Given the description of an element on the screen output the (x, y) to click on. 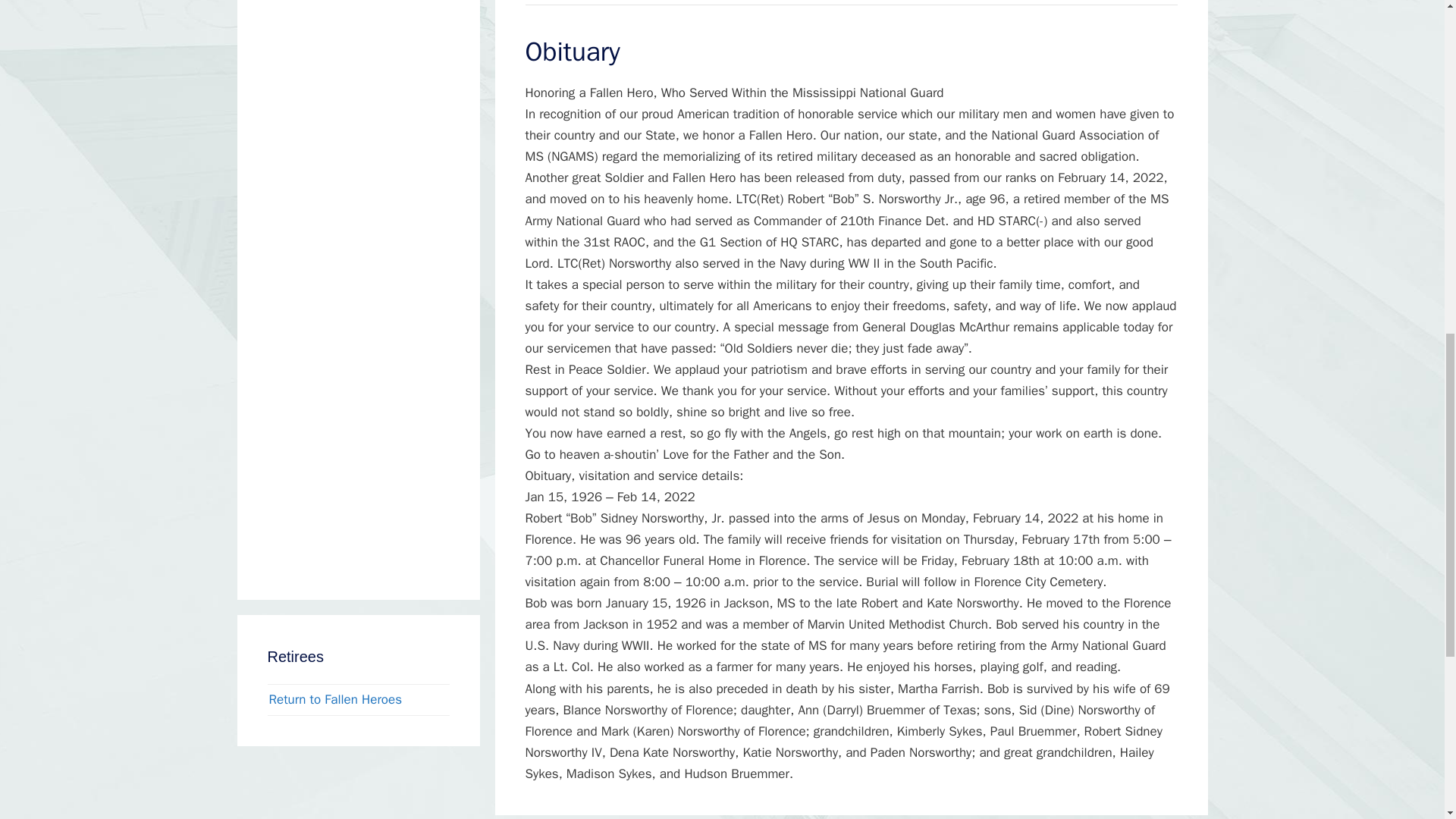
Scroll back to top (1406, 720)
